Given the description of an element on the screen output the (x, y) to click on. 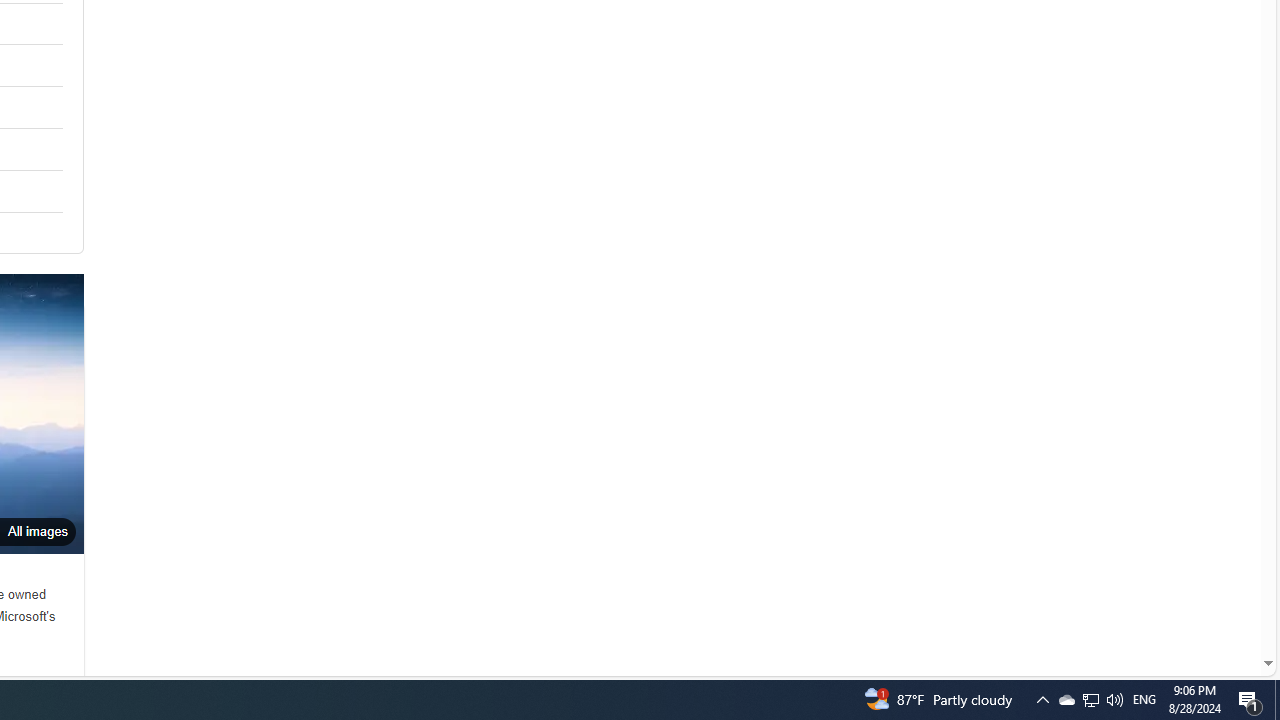
AutomationID: mfa_root (1192, 603)
Search more (1222, 604)
